Given the description of an element on the screen output the (x, y) to click on. 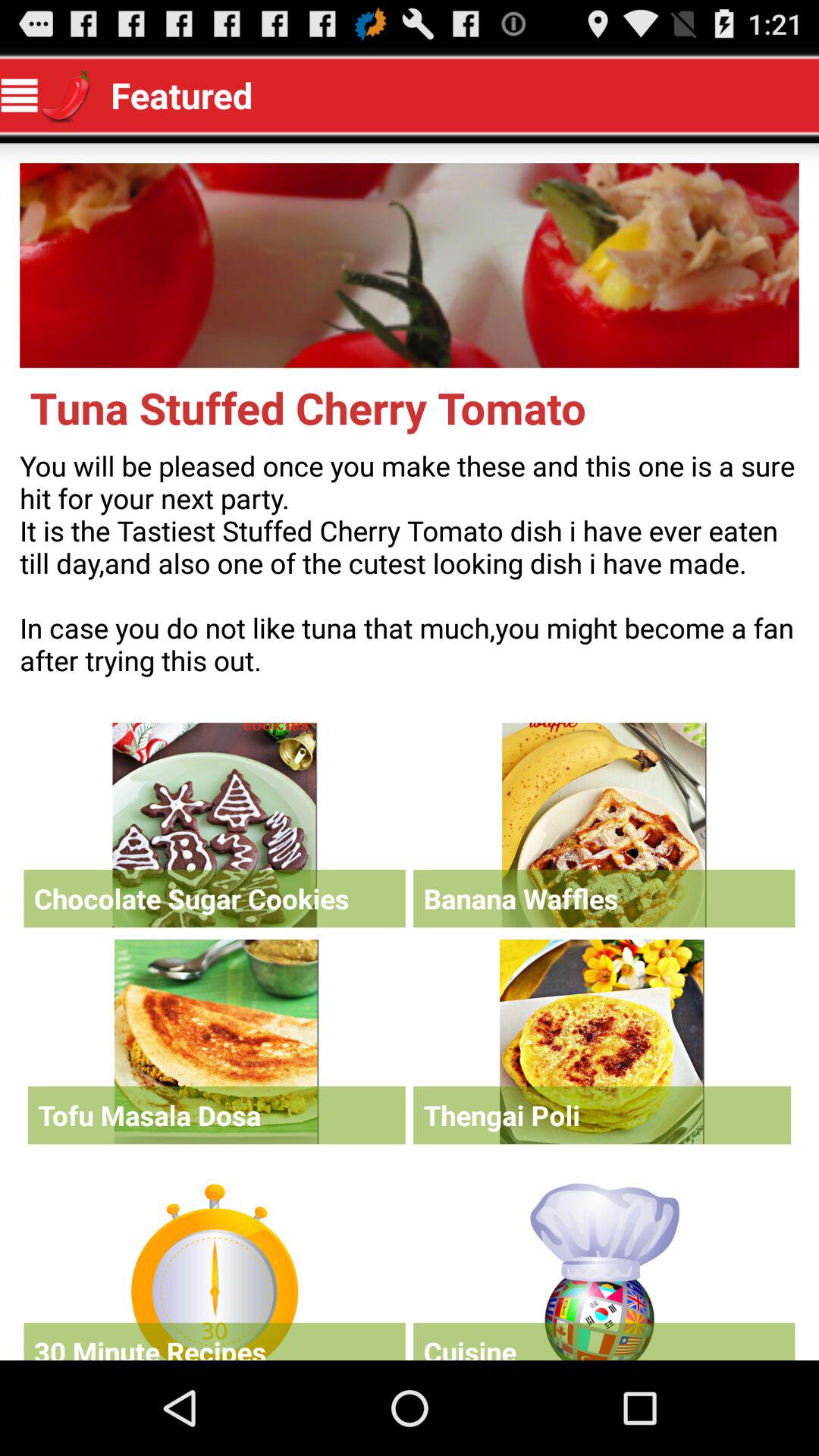
thengai poli recipe selection (602, 1041)
